Given the description of an element on the screen output the (x, y) to click on. 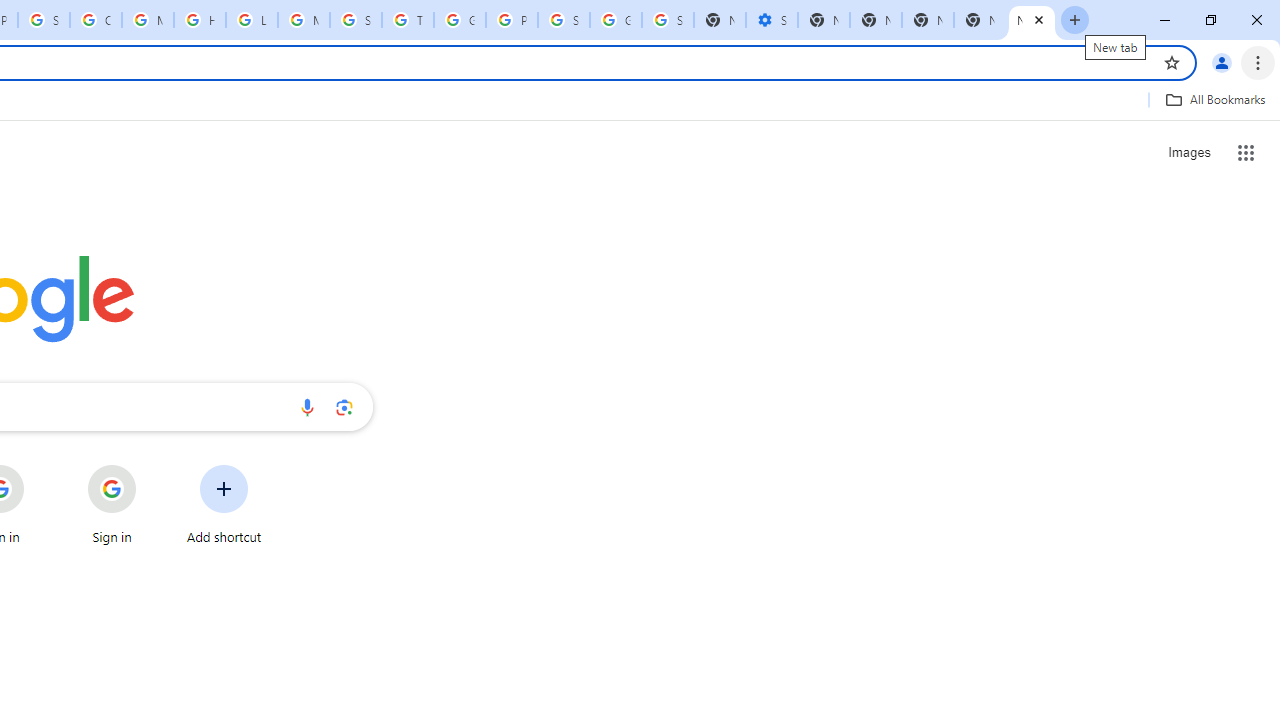
New Tab (979, 20)
Settings - Performance (771, 20)
Google Cybersecurity Innovations - Google Safety Center (616, 20)
Sign in - Google Accounts (563, 20)
Sign in - Google Accounts (667, 20)
